Given the description of an element on the screen output the (x, y) to click on. 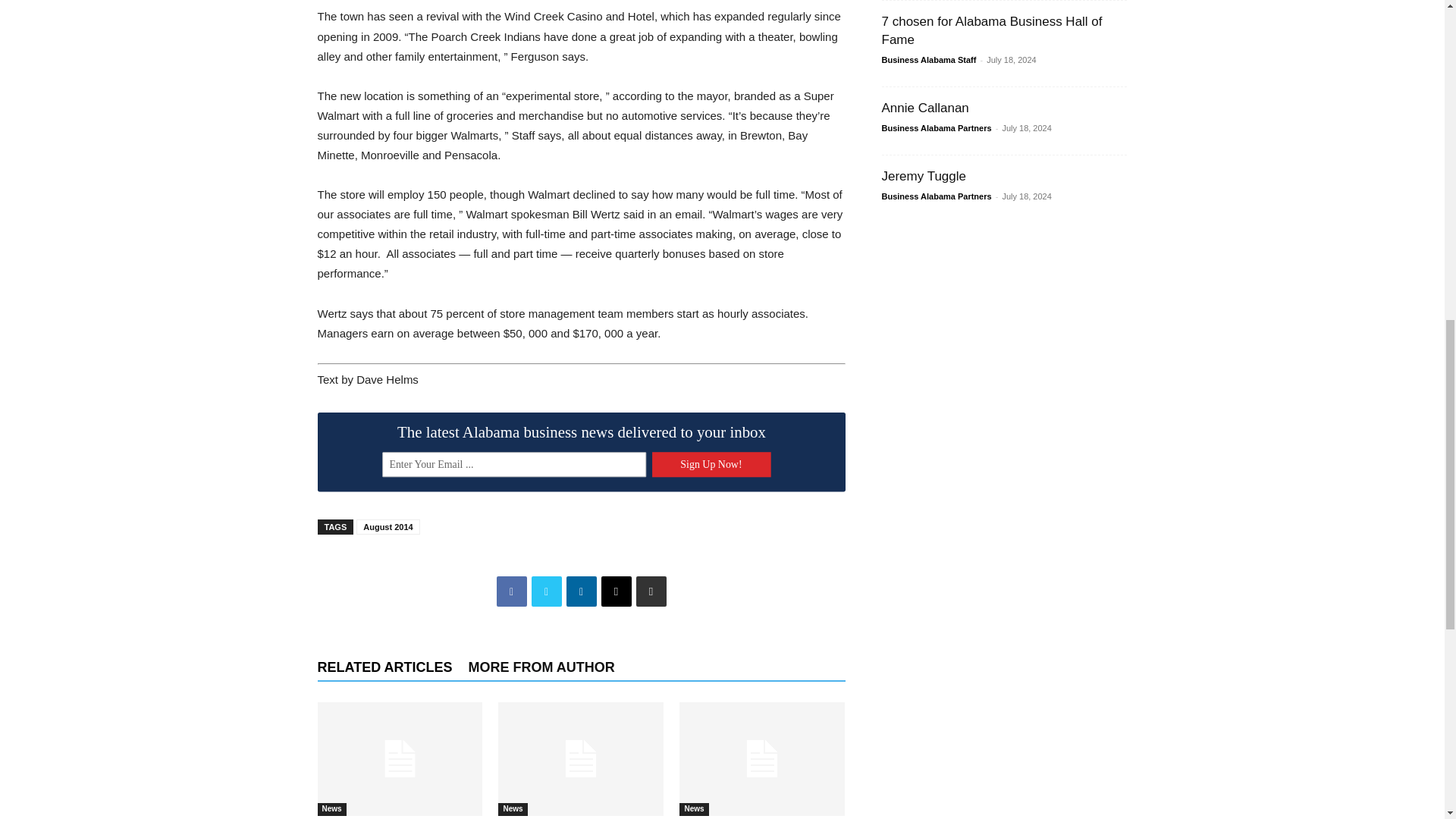
Twitter (545, 591)
Facebook (510, 591)
